Given the description of an element on the screen output the (x, y) to click on. 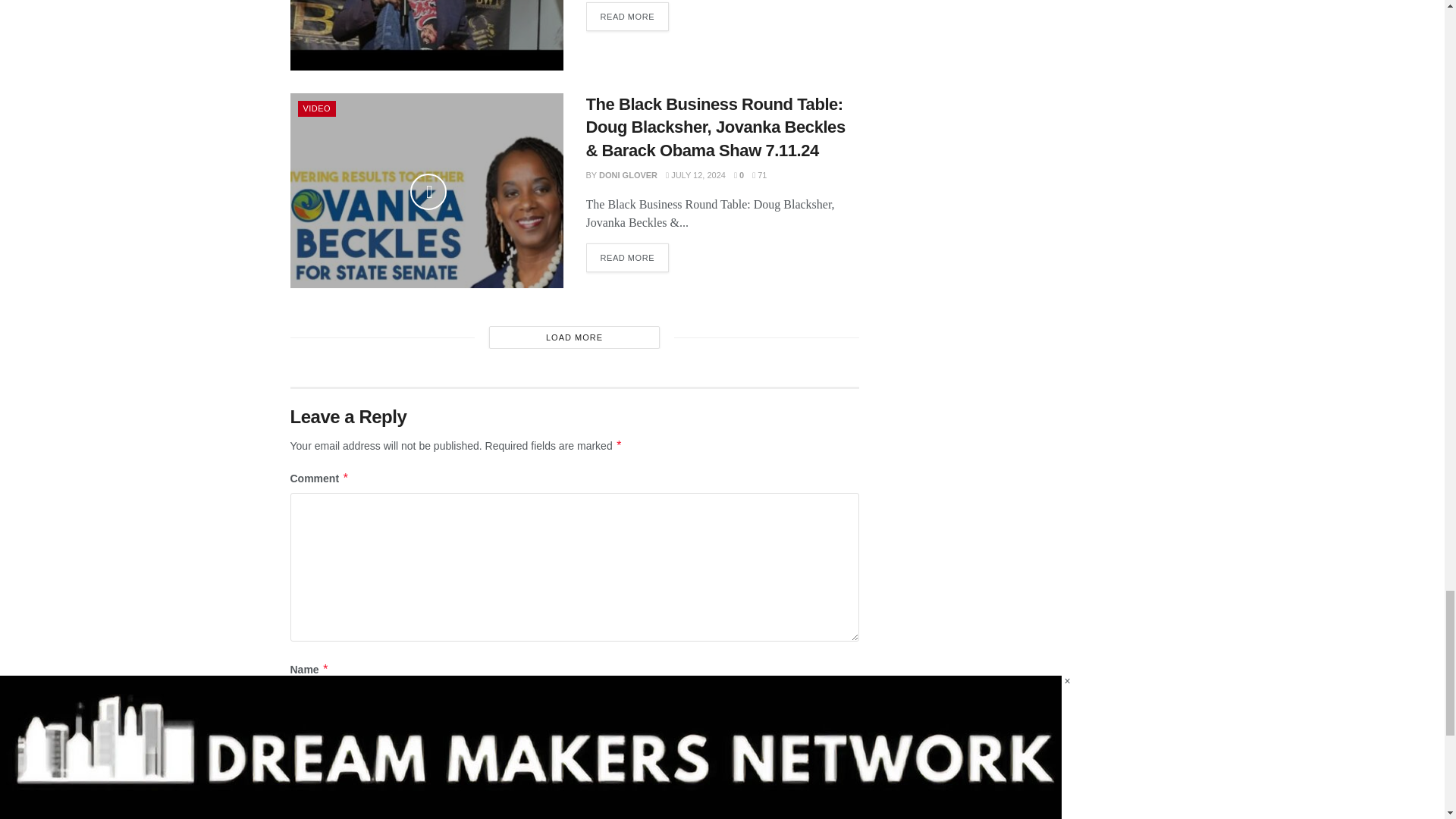
yes (294, 807)
